Given the description of an element on the screen output the (x, y) to click on. 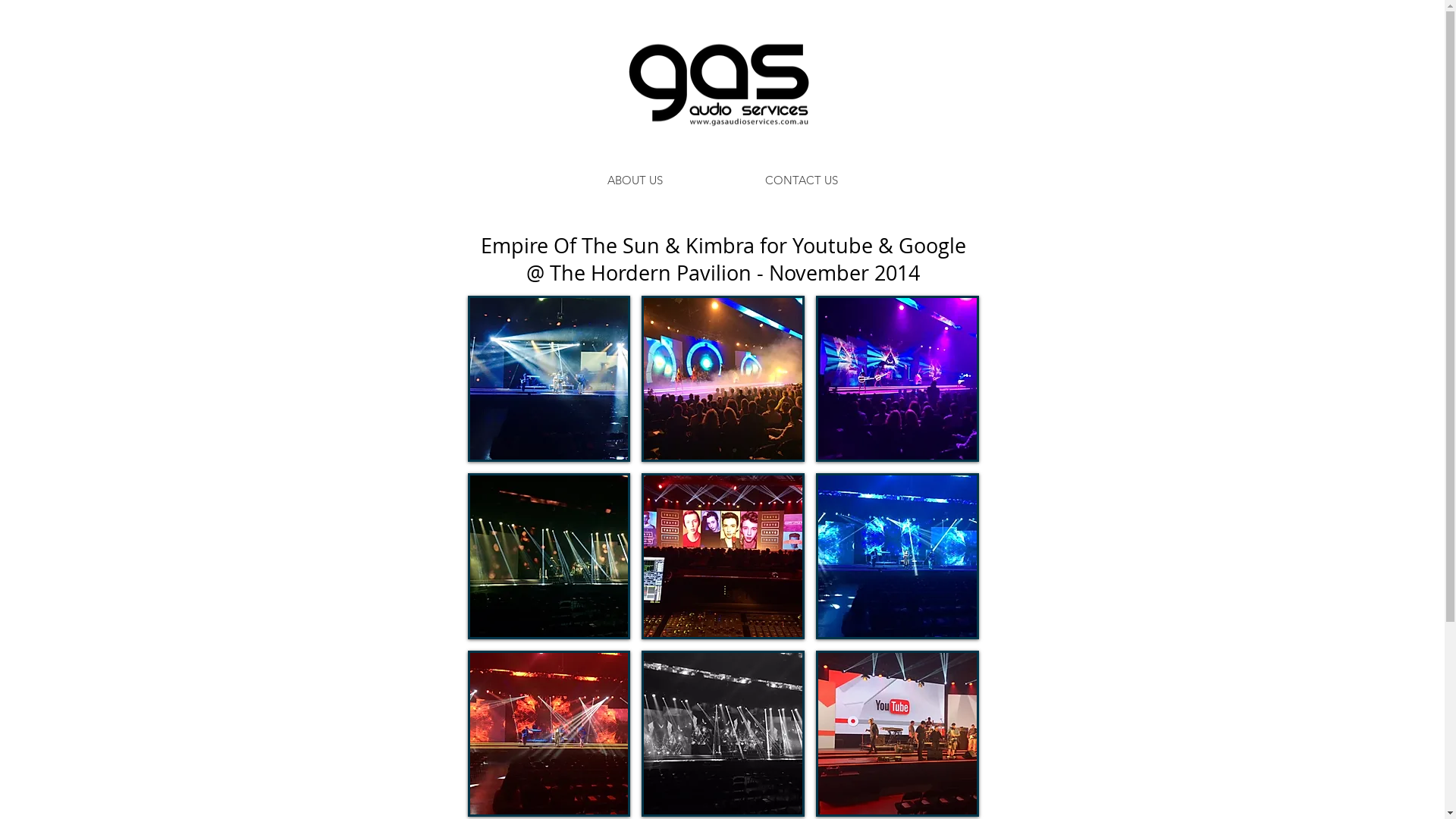
ABOUT US Element type: text (634, 179)
CONTACT US Element type: text (801, 179)
